Given the description of an element on the screen output the (x, y) to click on. 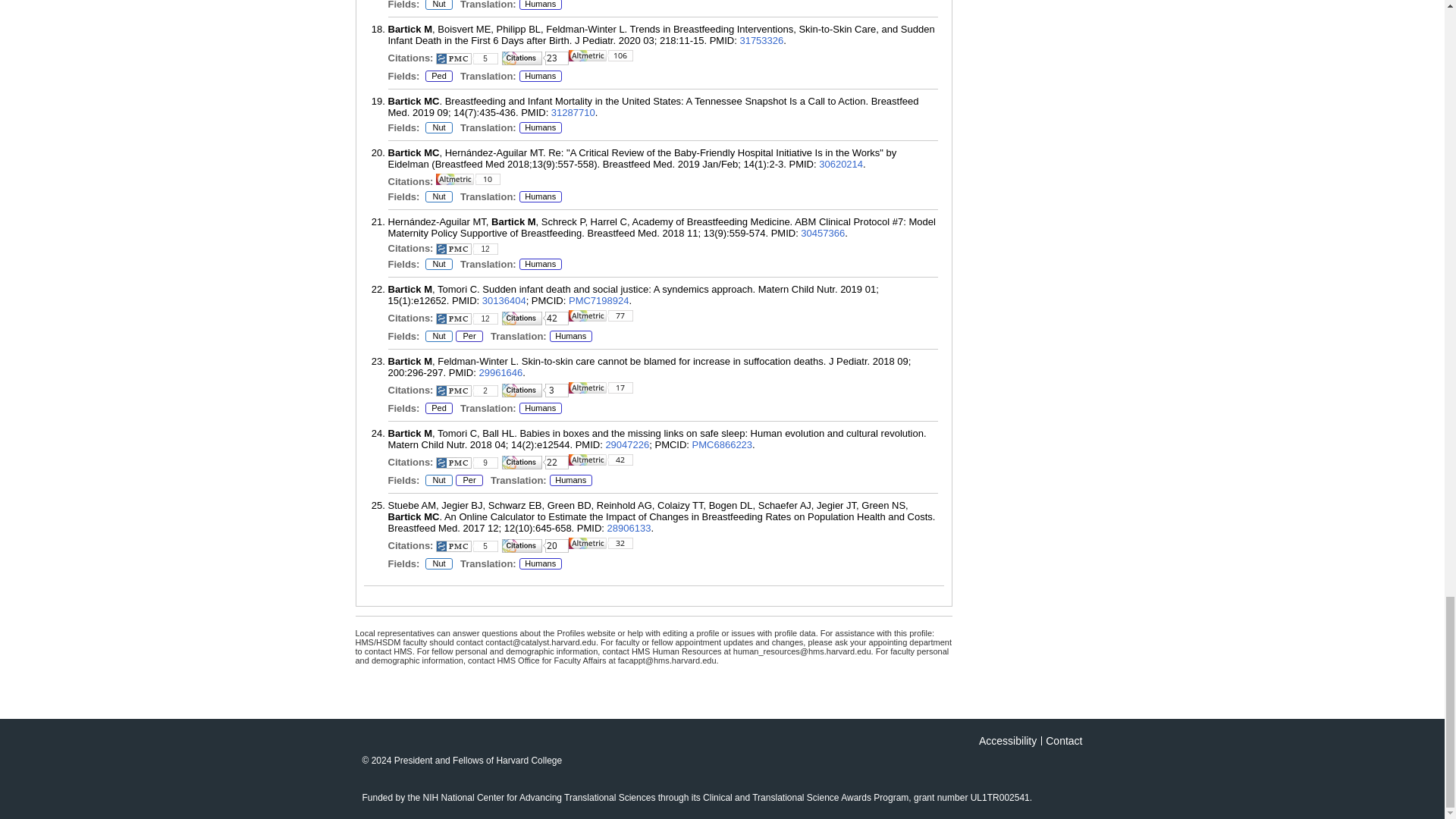
Accessibility (1007, 740)
Contact (1063, 740)
